Given the description of an element on the screen output the (x, y) to click on. 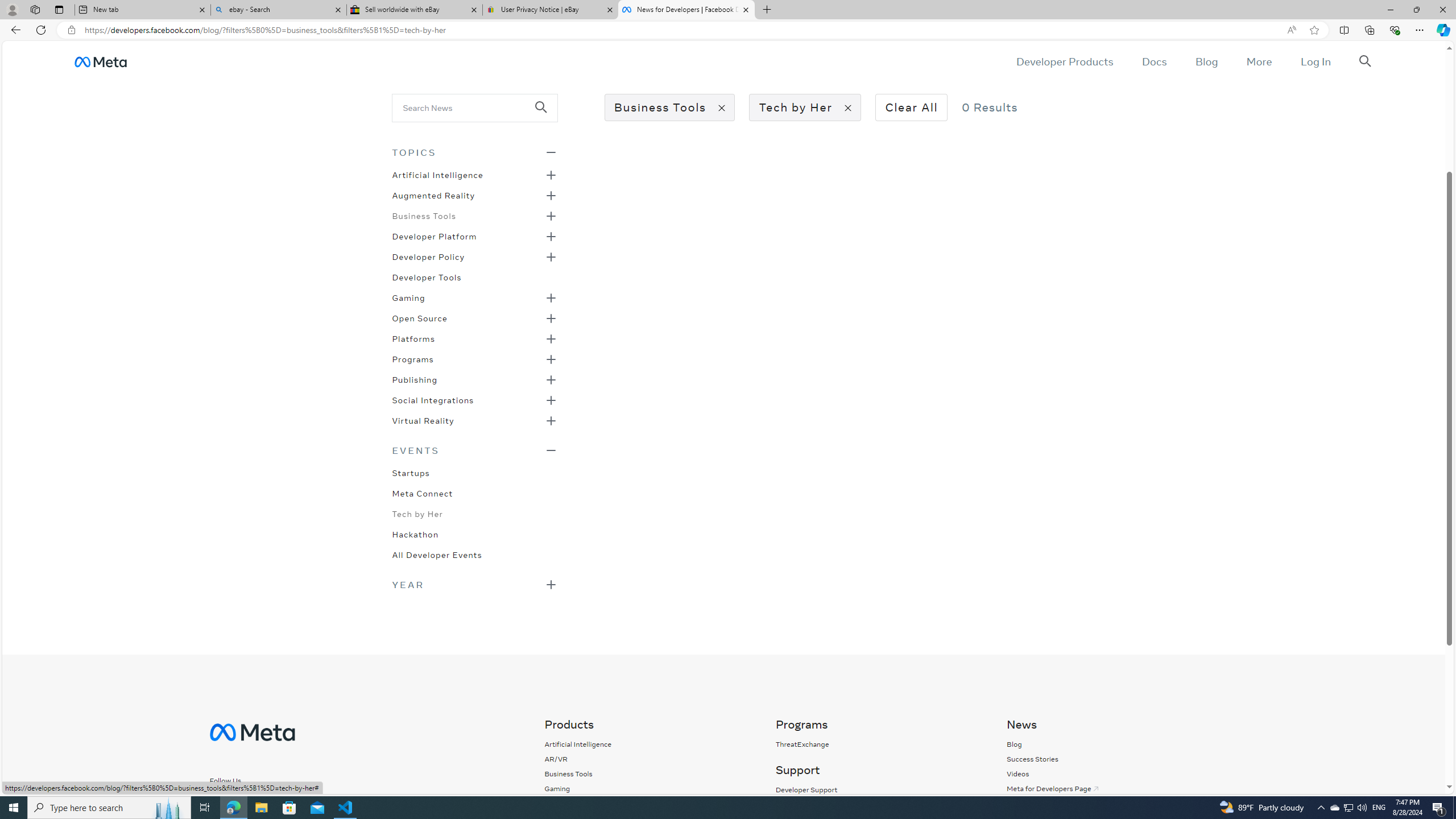
All Developer Events (436, 553)
Videos (1017, 773)
Class: _9890 _98ey (474, 450)
Class: _58al (467, 107)
Artificial Intelligence (577, 743)
Success Stories (1110, 758)
Developer Platform (434, 235)
Videos (1110, 773)
Meta Connect (421, 492)
Hackathon (415, 533)
Developer Support (805, 789)
Class: _98ex (474, 557)
Follow us on YouTube (313, 801)
Tech by Her (416, 512)
